Given the description of an element on the screen output the (x, y) to click on. 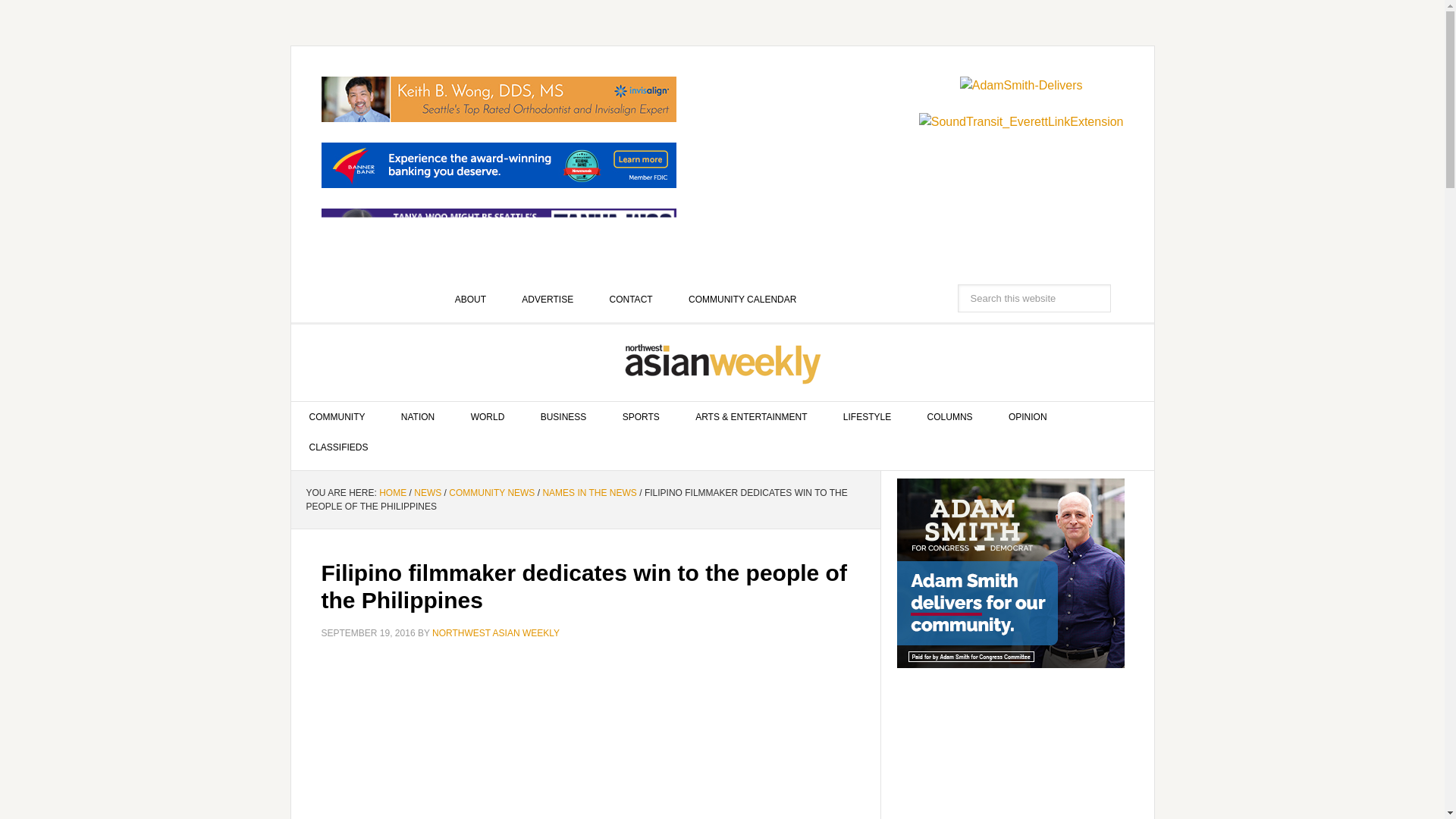
CONTACT (631, 299)
HOME (392, 492)
ADVERTISE (547, 299)
SPORTS (641, 417)
ABOUT (469, 299)
OPINION (1027, 417)
NORTHWEST ASIAN WEEKLY (722, 362)
NATION (417, 417)
COLUMNS (949, 417)
BUSINESS (563, 417)
WORLD (487, 417)
COMMUNITY CALENDAR (741, 299)
